Given the description of an element on the screen output the (x, y) to click on. 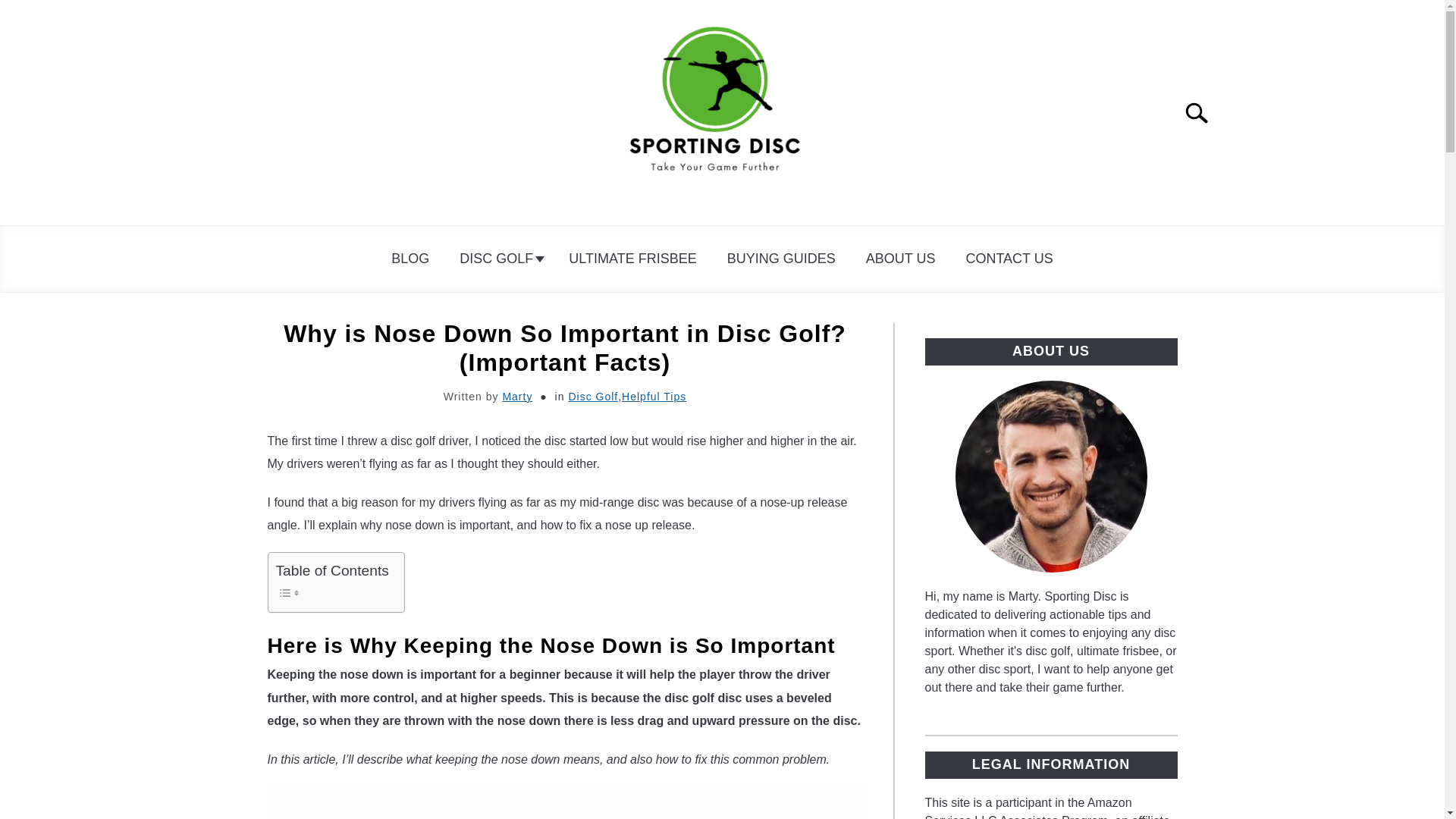
BUYING GUIDES (780, 258)
Search (1203, 112)
BLOG (409, 258)
ABOUT US (900, 258)
Disc Golf (592, 396)
DISC GOLF (498, 258)
Marty (517, 396)
Helpful Tips (653, 396)
CONTACT US (1008, 258)
ULTIMATE FRISBEE (632, 258)
